Given the description of an element on the screen output the (x, y) to click on. 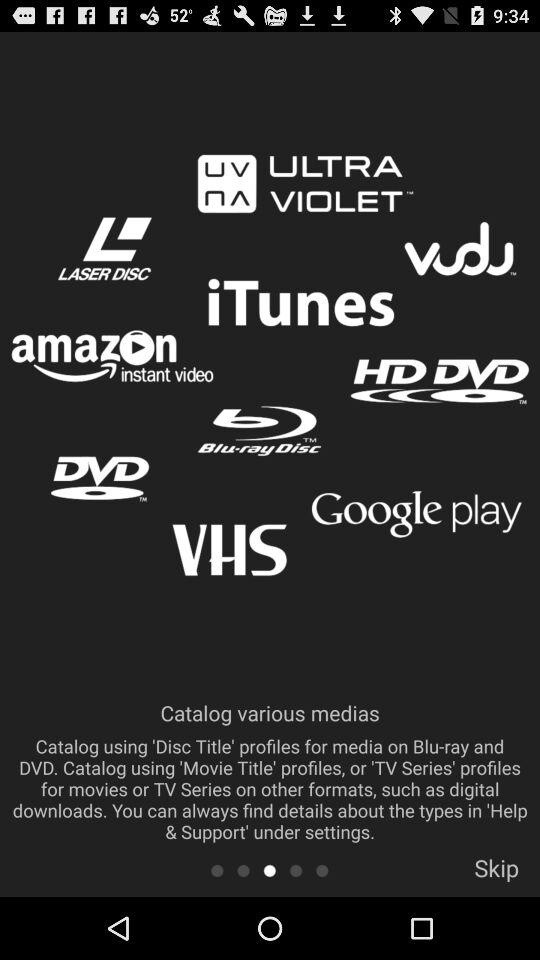
turn off skip (496, 873)
